Given the description of an element on the screen output the (x, y) to click on. 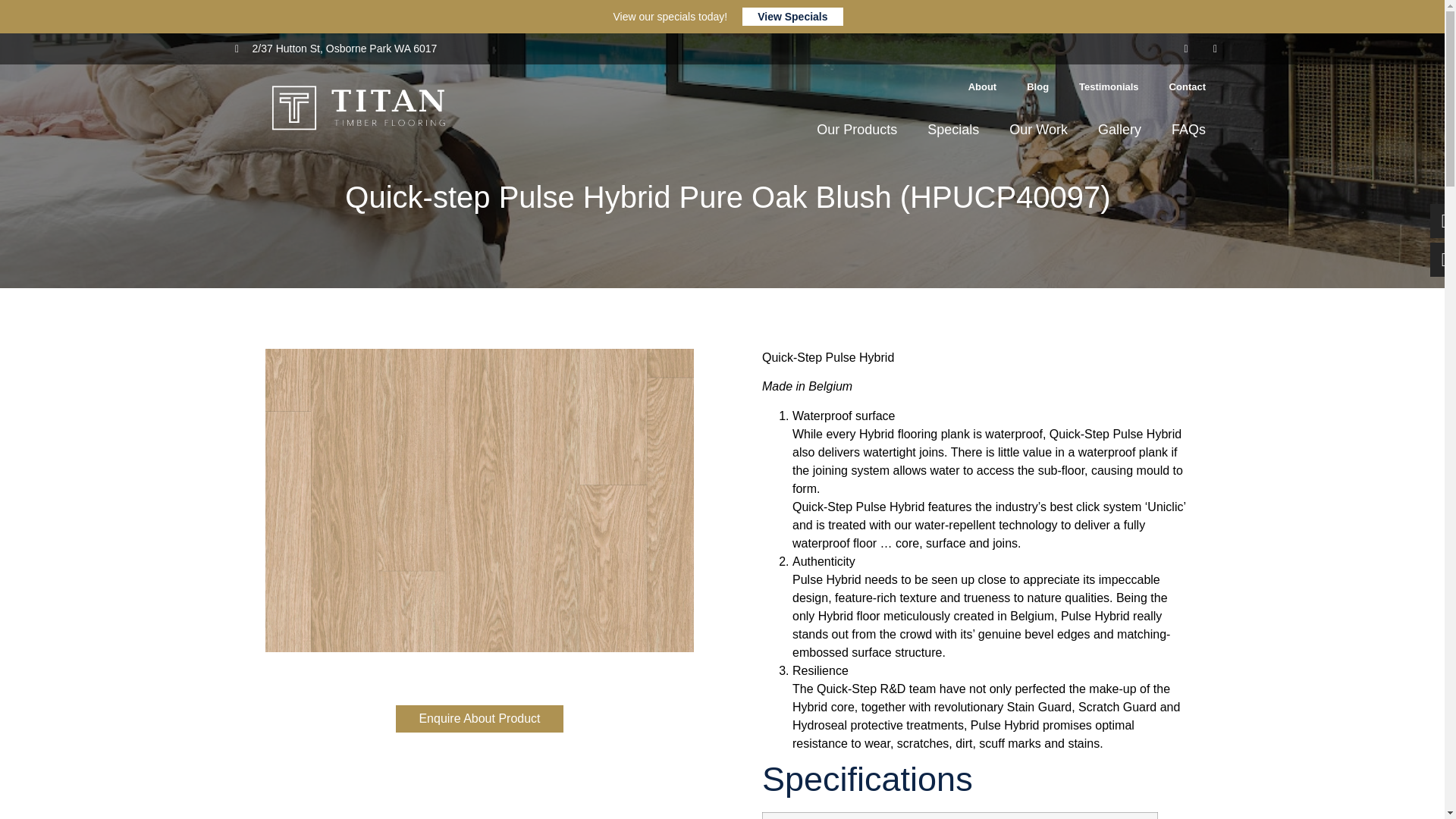
View Specials (792, 16)
Specials (953, 129)
Gallery (1119, 129)
FAQs (1188, 129)
Blog (1037, 86)
Our Products (857, 129)
Our Work (1038, 129)
About (982, 86)
Testimonials (1109, 86)
Contact (1187, 86)
